Given the description of an element on the screen output the (x, y) to click on. 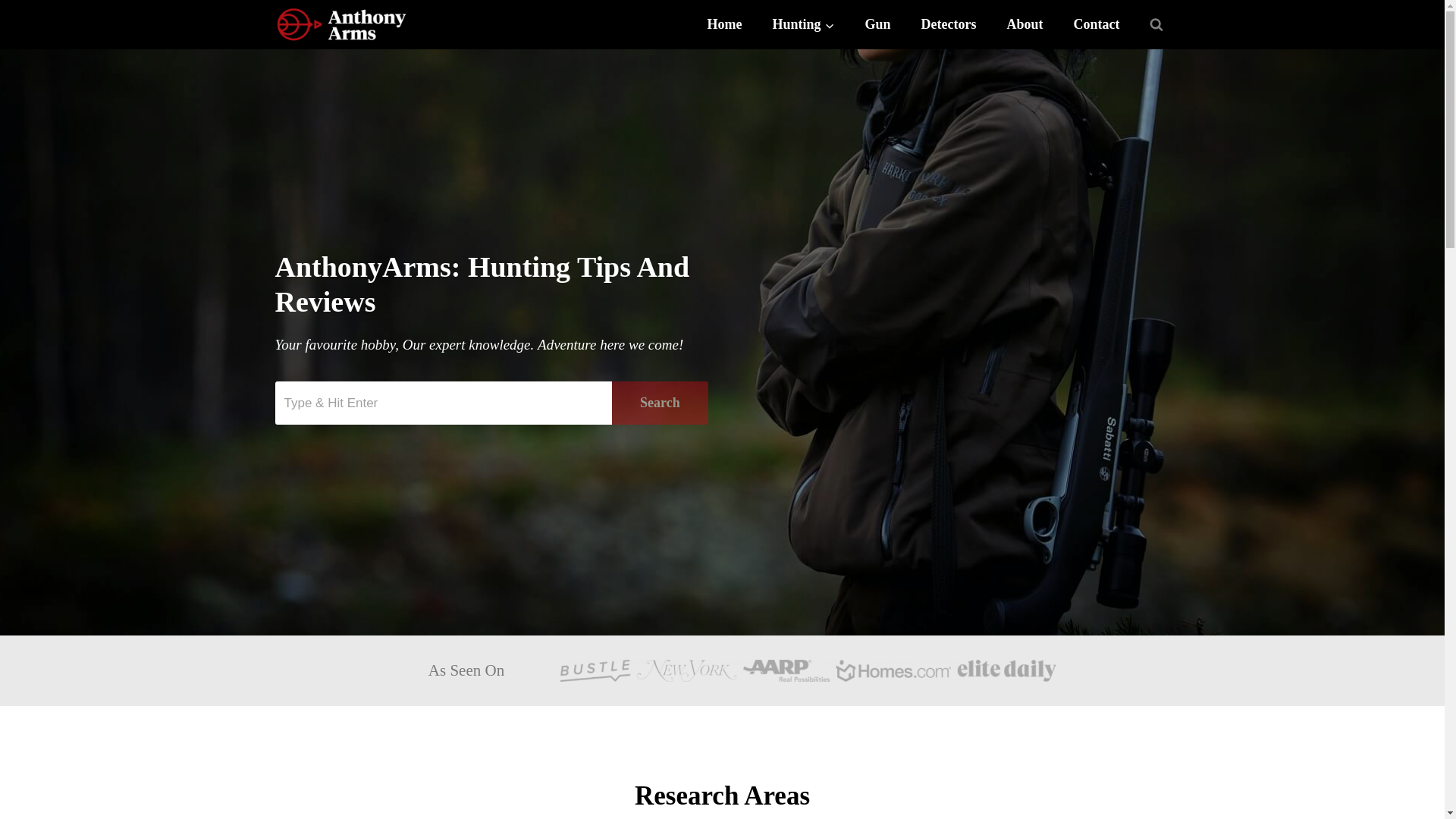
About (1024, 24)
Contact (1096, 24)
Search (659, 403)
Search (443, 403)
Detectors (948, 24)
Home (724, 24)
Gun (876, 24)
Hunting (802, 24)
